Given the description of an element on the screen output the (x, y) to click on. 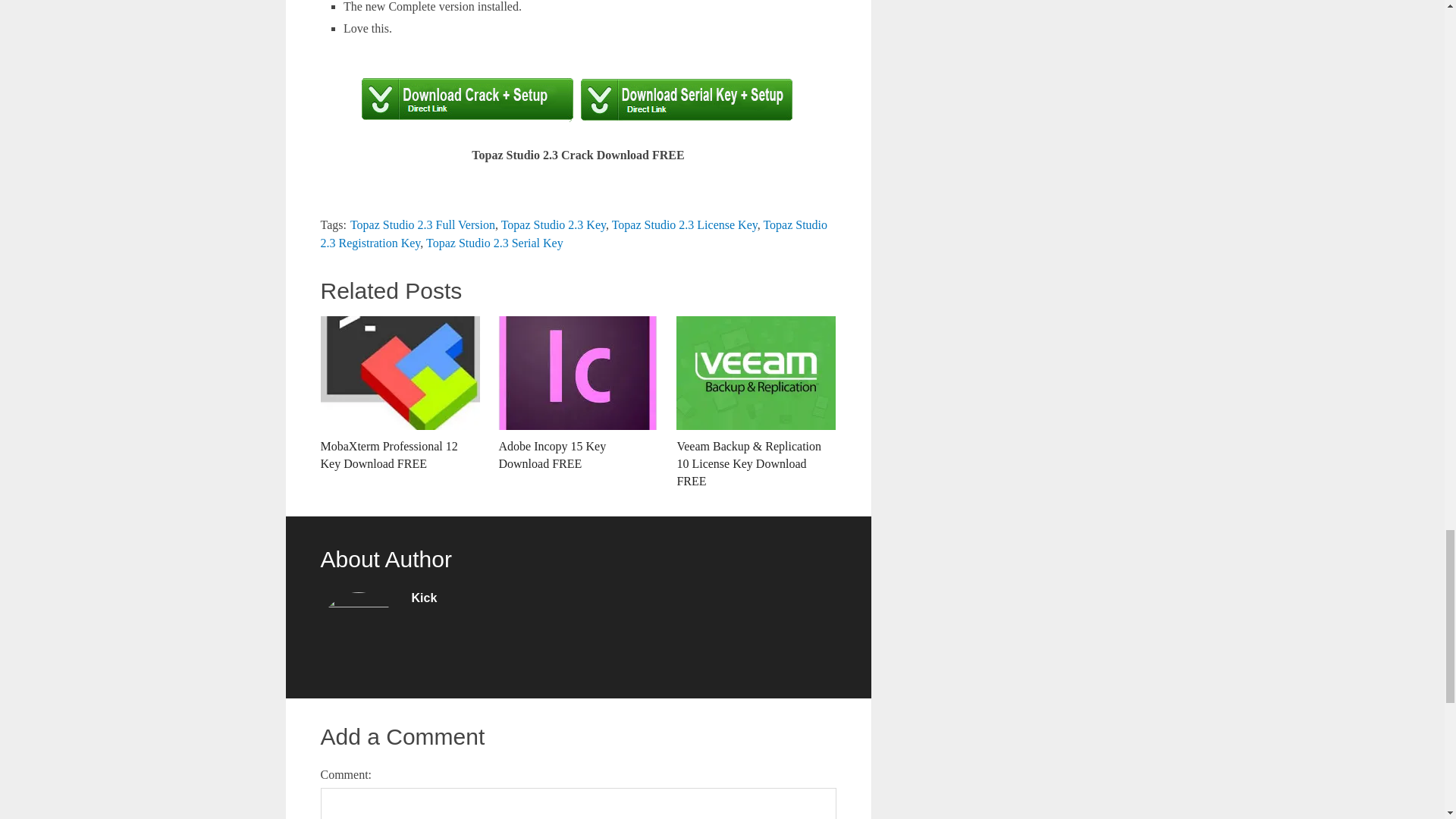
Topaz Studio 2.3 Registration Key (573, 233)
Adobe Incopy 15 Key Download FREE (577, 394)
Topaz Studio 2.3 Serial Key (494, 242)
Adobe Incopy 15 Key Download FREE (577, 394)
Topaz Studio 2.3 License Key (684, 224)
MobaXterm Professional 12 Key Download FREE (399, 394)
Topaz Studio 2.3 Full Version (422, 224)
MobaXterm Professional 12 Key Download FREE (399, 394)
Topaz Studio 2.3 Key (552, 224)
